Given the description of an element on the screen output the (x, y) to click on. 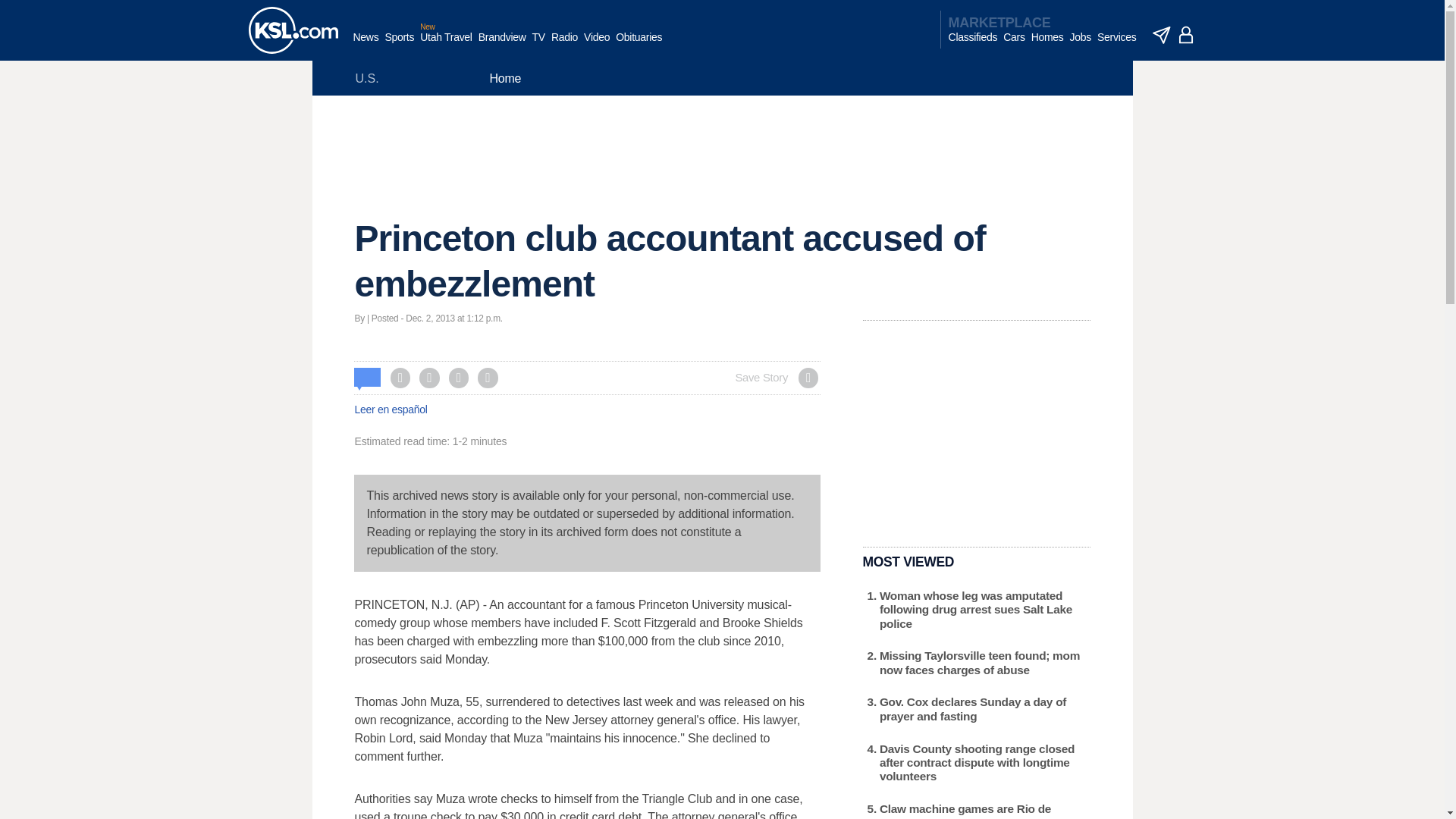
Sports (398, 45)
account - logged out (1185, 34)
KSL homepage (292, 30)
KSL homepage (292, 29)
Utah Travel (445, 45)
Brandview (502, 45)
